Given the description of an element on the screen output the (x, y) to click on. 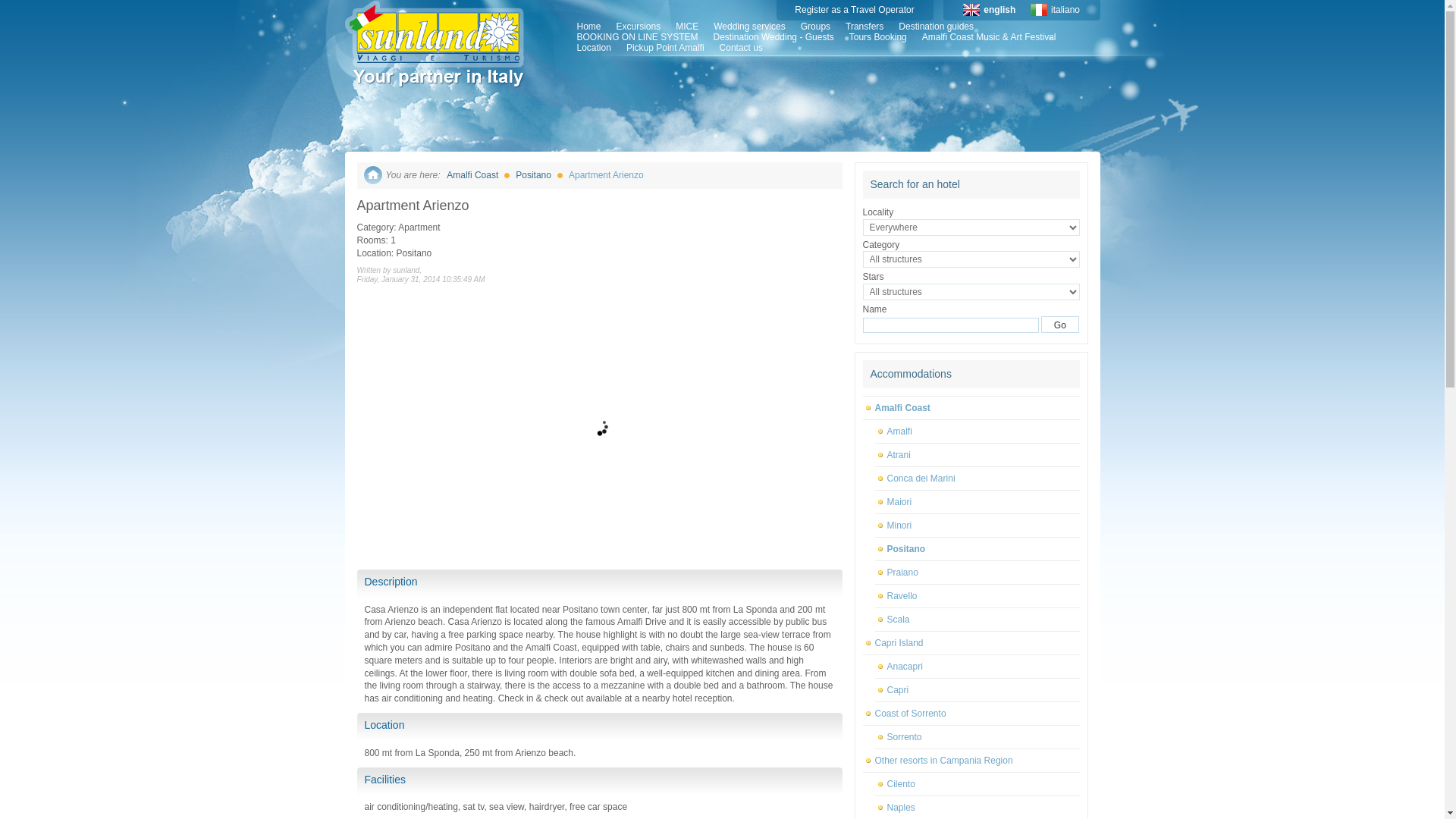
Home (587, 26)
Positano (977, 549)
Excursions (638, 26)
Tours Booking (877, 36)
Ravello (977, 596)
Maiori (977, 502)
MICE (686, 26)
Praiano (977, 572)
Capri Island (971, 643)
Go (1059, 324)
Atrani (977, 454)
Positano (533, 174)
italiano (1065, 9)
Capri (977, 689)
Sorrento (977, 737)
